Given the description of an element on the screen output the (x, y) to click on. 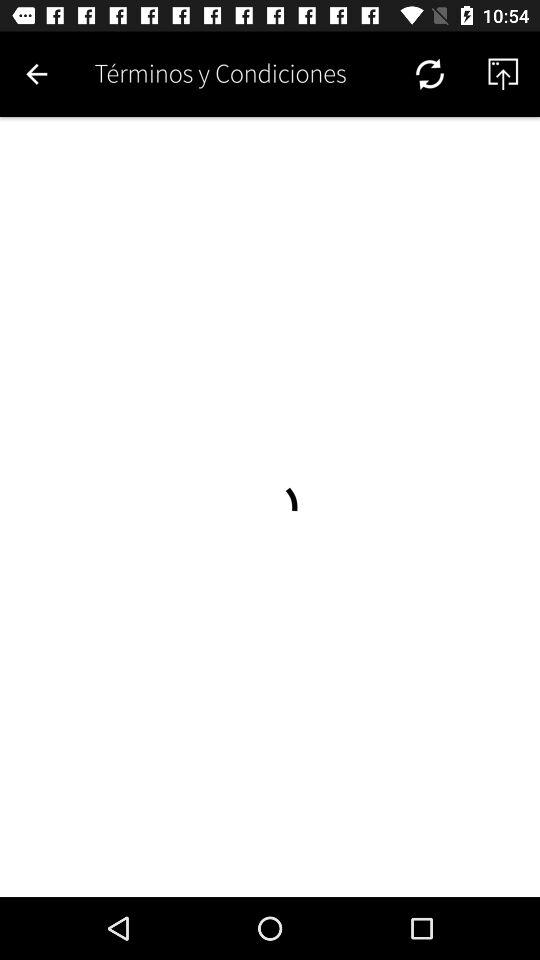
press icon at the top left corner (36, 74)
